Given the description of an element on the screen output the (x, y) to click on. 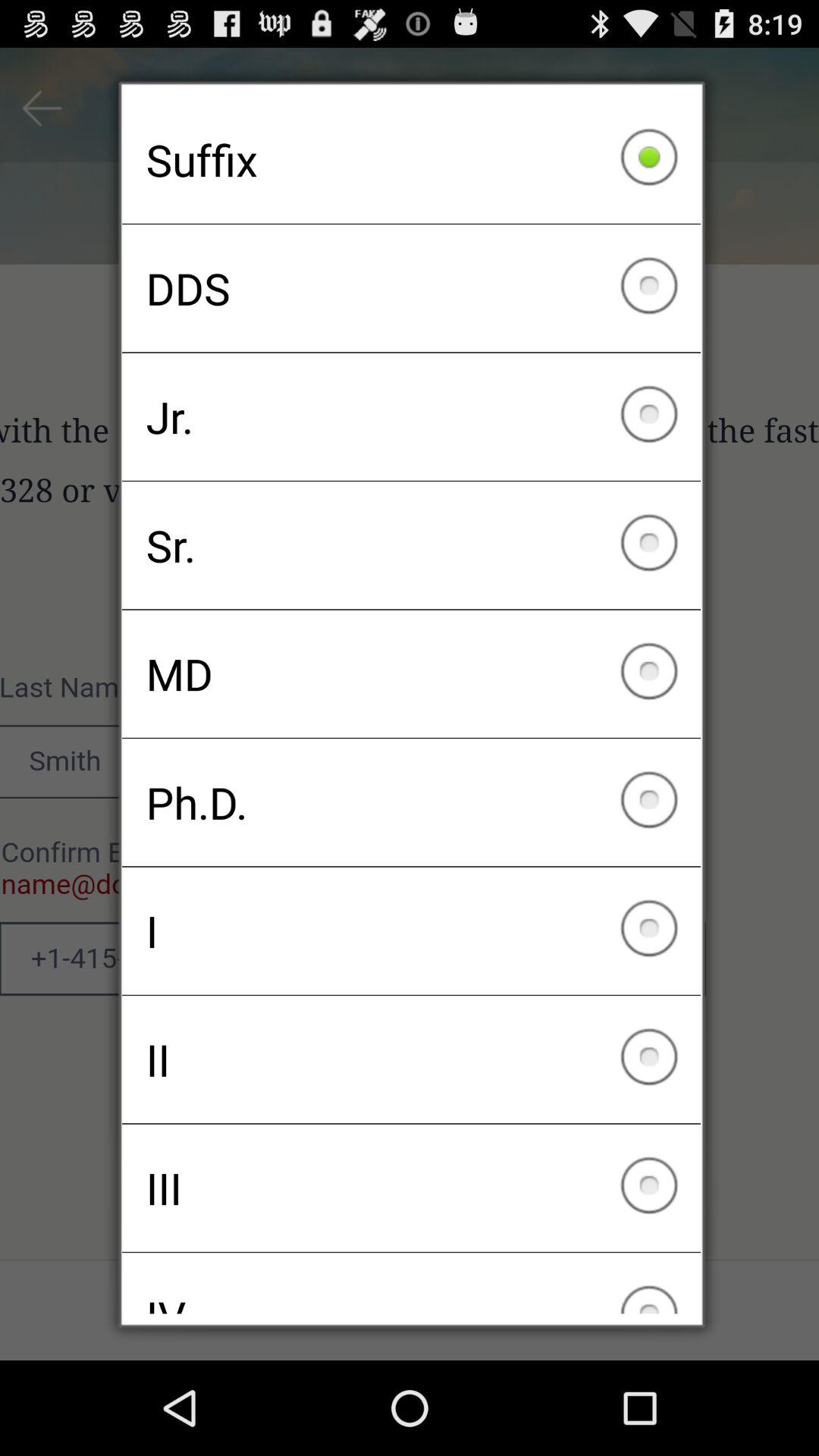
jump to iv (411, 1282)
